Given the description of an element on the screen output the (x, y) to click on. 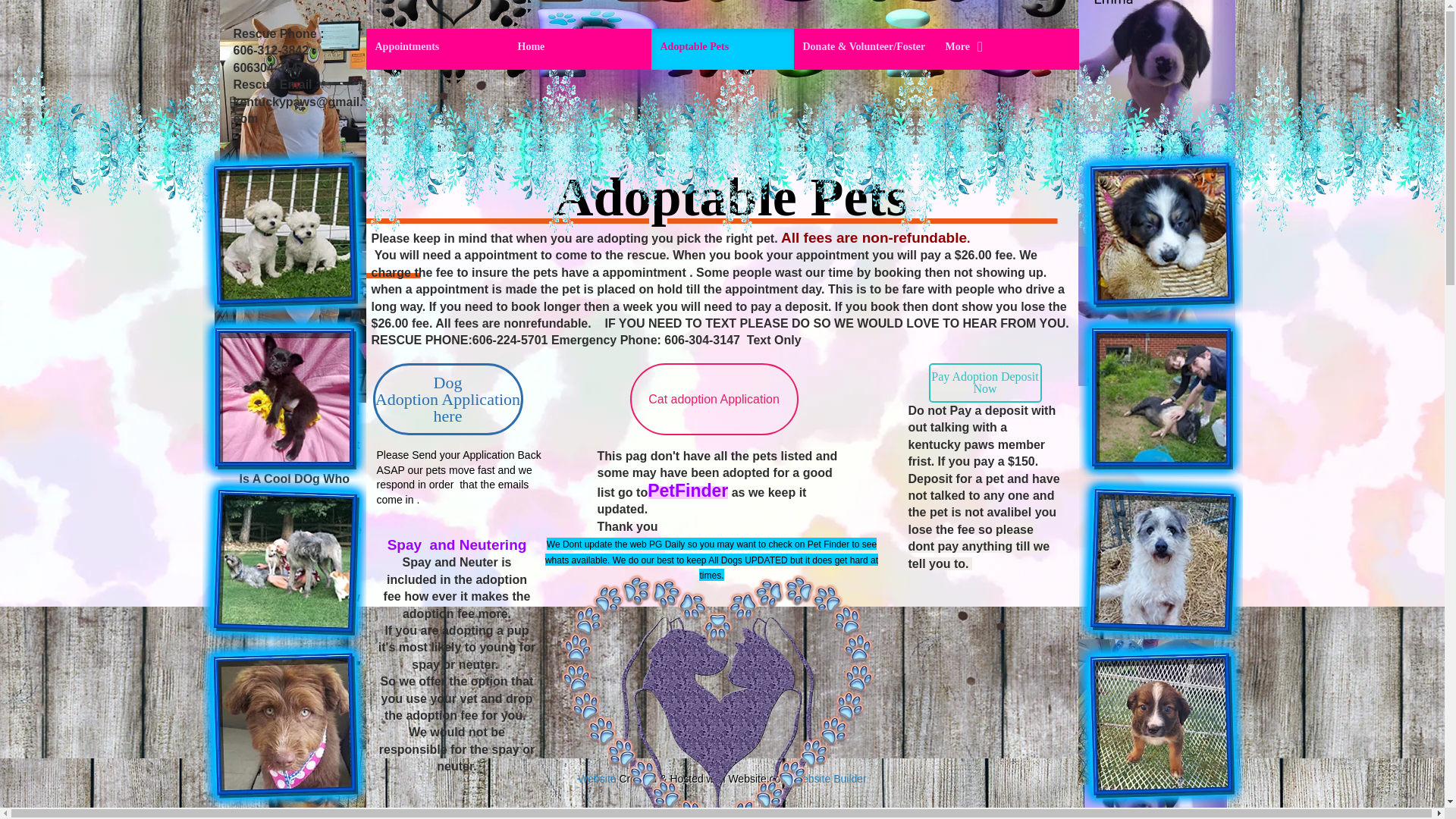
Cat adoption Application (713, 399)
Home (579, 48)
Website Builder (829, 778)
More (1007, 48)
Website (596, 778)
Appointments (436, 48)
Adoptable Pets (721, 48)
Pay Adoption Deposit Now (446, 399)
